Given the description of an element on the screen output the (x, y) to click on. 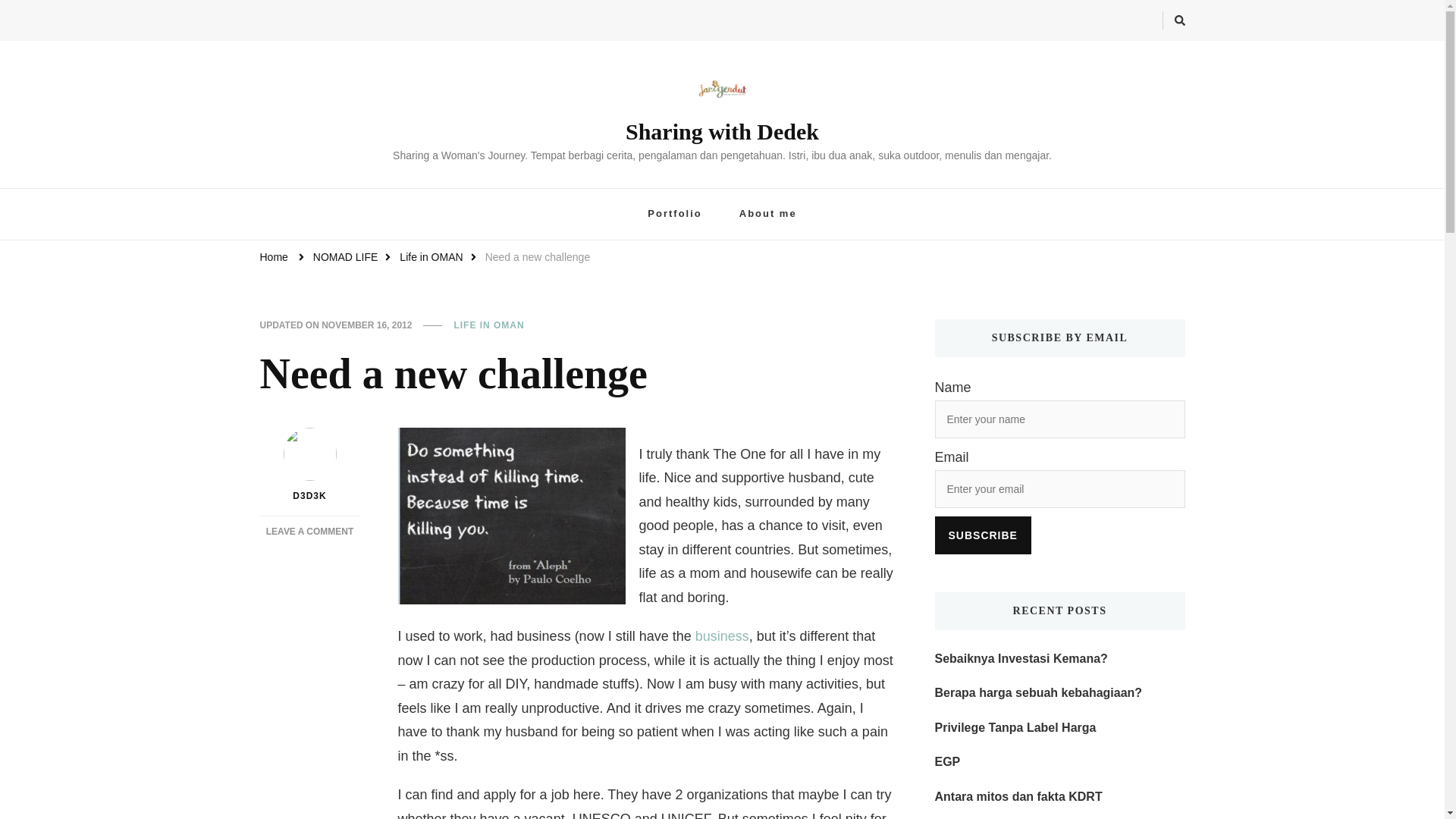
Search (1155, 22)
Subscribe (982, 535)
EGP (946, 762)
Sharing with Dedek (722, 131)
Life in OMAN (430, 257)
Subscribe (982, 535)
Portfolio (309, 531)
NOVEMBER 16, 2012 (673, 214)
LIFE IN OMAN (366, 325)
Home (488, 325)
About me (272, 257)
NOMAD LIFE (767, 214)
PC (345, 257)
business (510, 515)
